Given the description of an element on the screen output the (x, y) to click on. 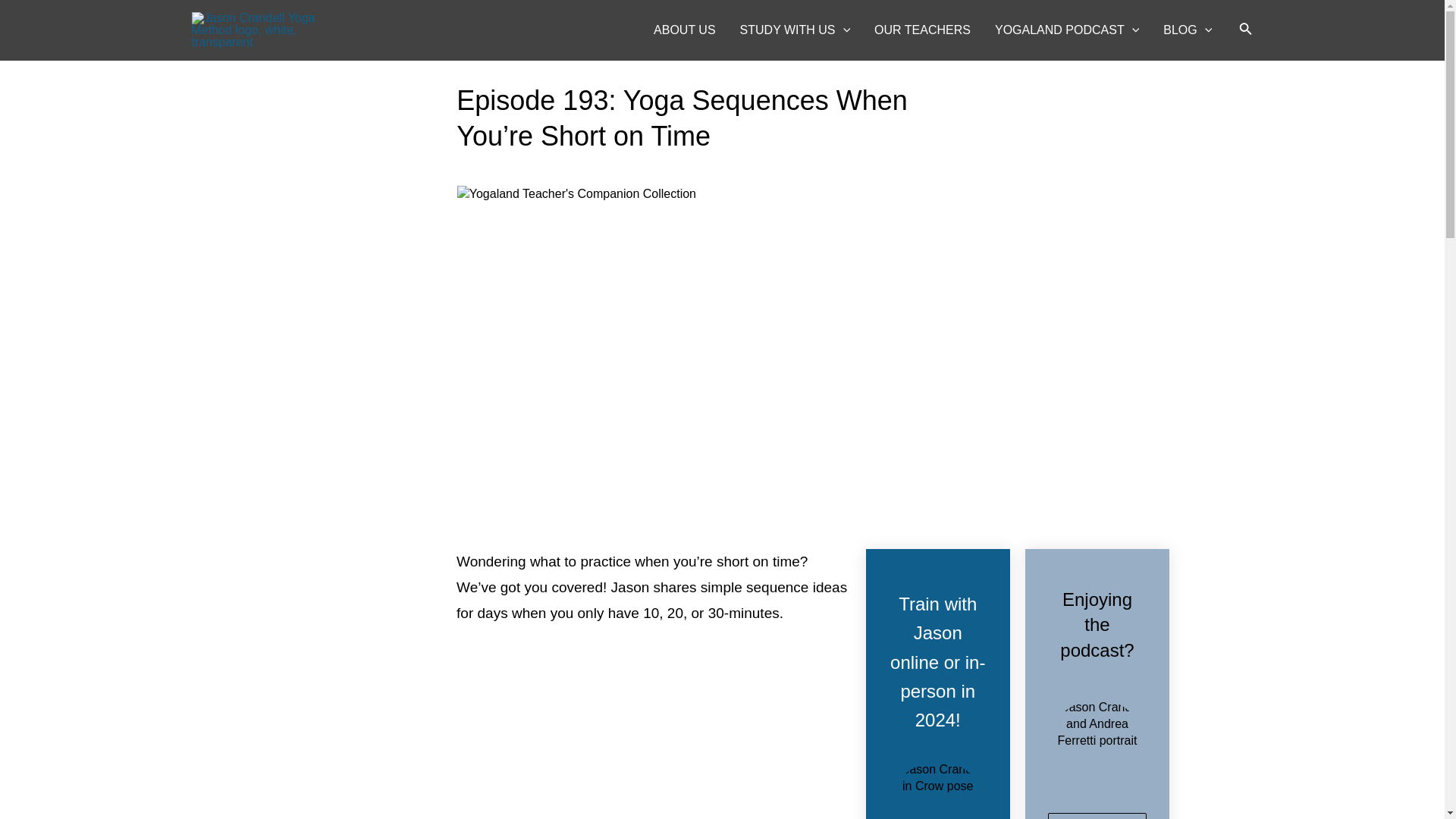
BLOG (1187, 30)
OUR TEACHERS (921, 30)
STUDY WITH US (795, 30)
YOGALAND PODCAST (1066, 30)
ABOUT US (685, 30)
